Given the description of an element on the screen output the (x, y) to click on. 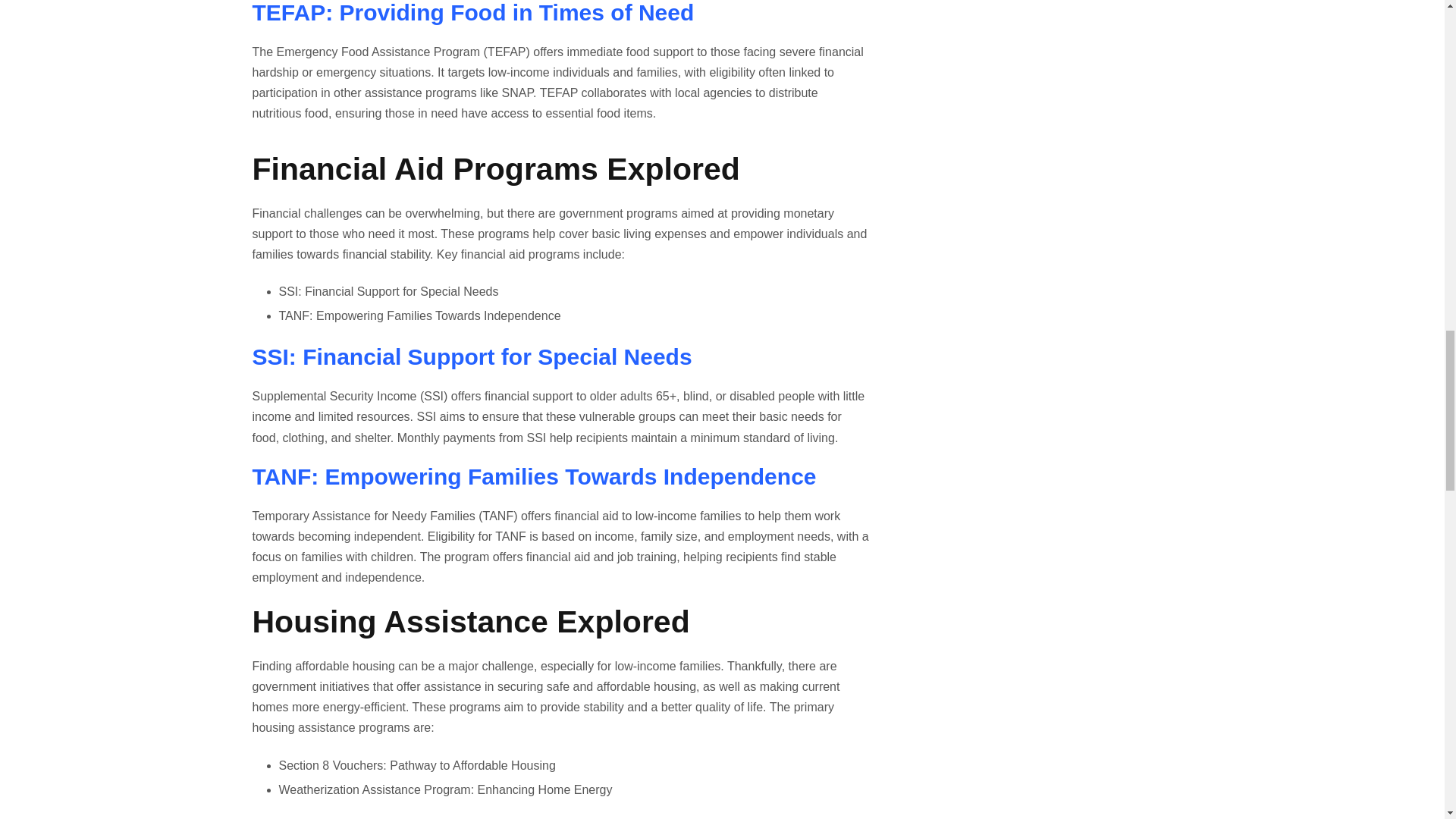
TANF: Empowering Families Towards Independence (533, 476)
TEFAP: Providing Food in Times of Need (472, 12)
SSI: Financial Support for Special Needs (471, 356)
